Given the description of an element on the screen output the (x, y) to click on. 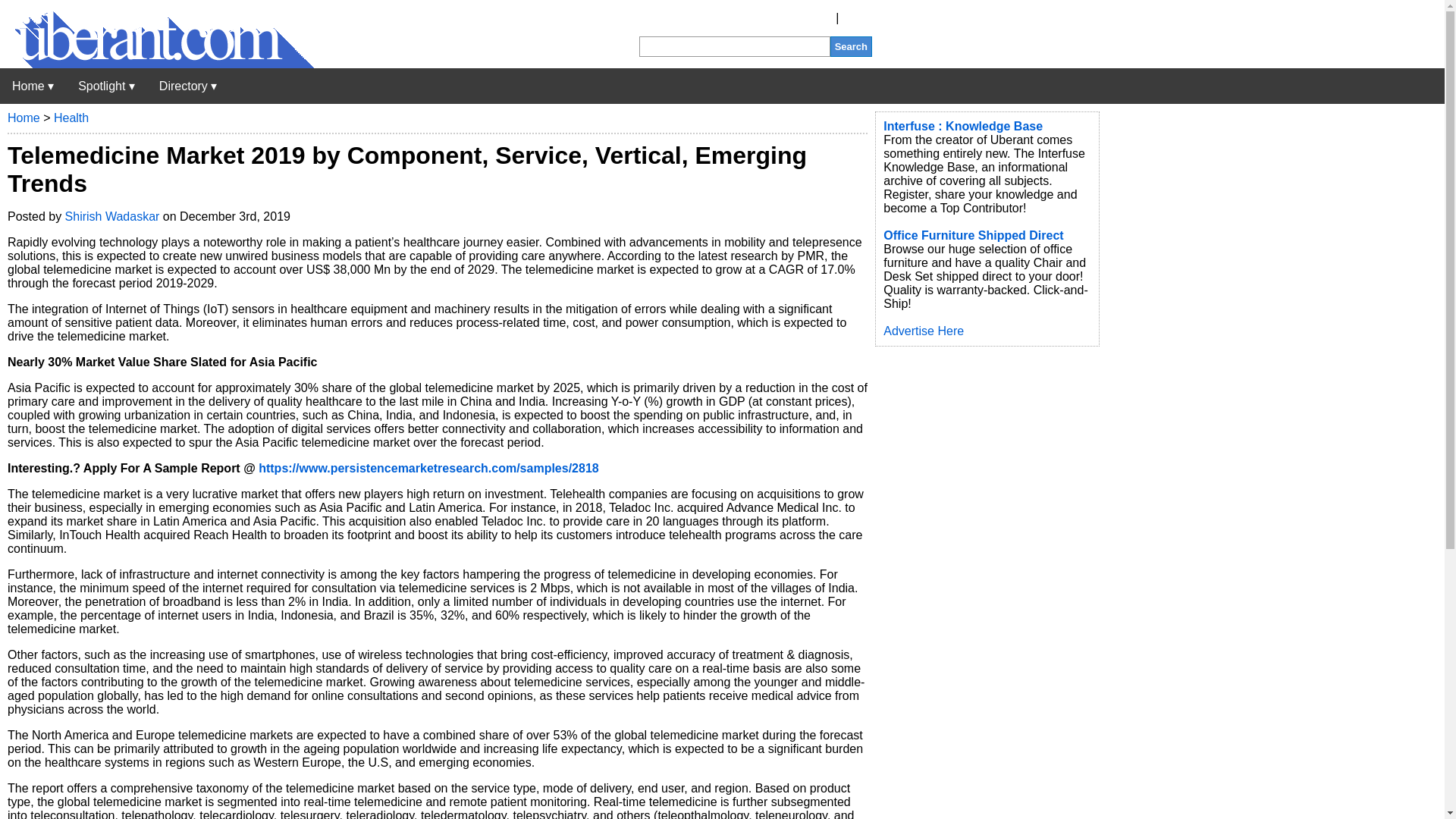
Register (809, 17)
Login (857, 17)
Search (850, 46)
Uberant (32, 85)
Search (850, 46)
Uberant (157, 63)
